Given the description of an element on the screen output the (x, y) to click on. 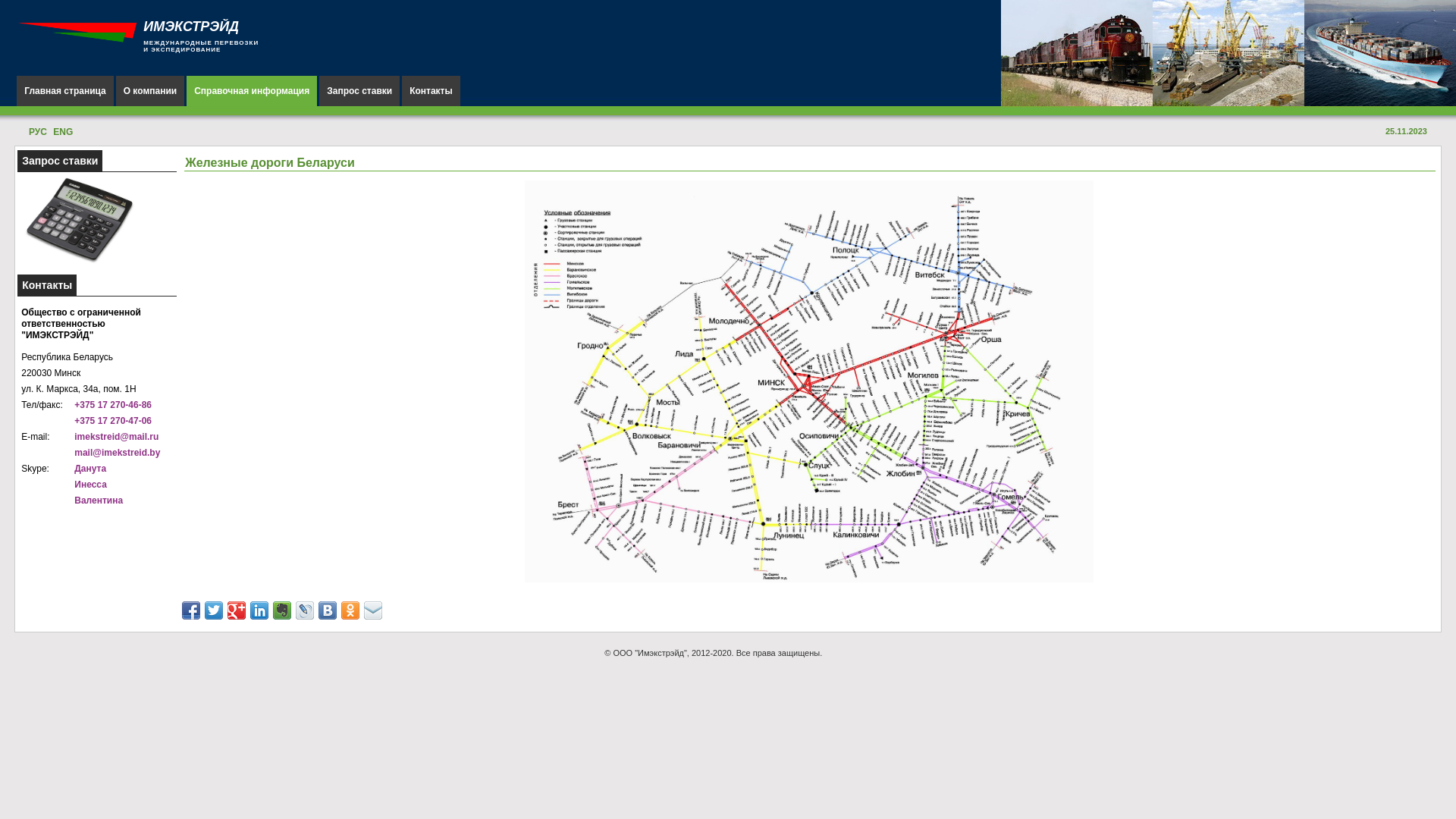
mail@imekstreid.by Element type: text (117, 452)
+375 17 270-47-06 Element type: text (112, 420)
imekstreid@mail.ru Element type: text (116, 436)
ENG Element type: text (62, 131)
+375 17 270-46-86 Element type: text (112, 404)
